Given the description of an element on the screen output the (x, y) to click on. 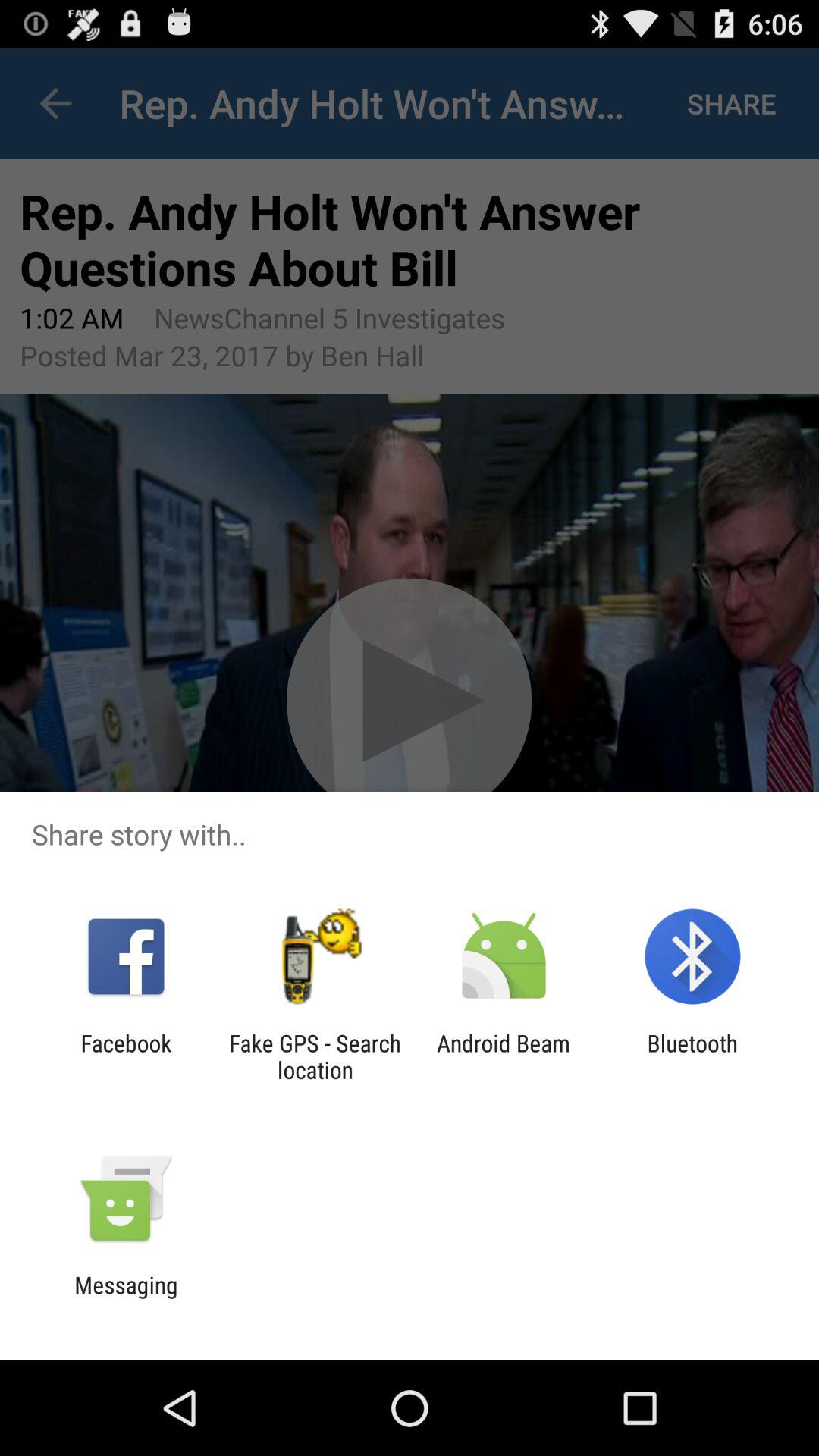
flip to facebook app (125, 1056)
